Given the description of an element on the screen output the (x, y) to click on. 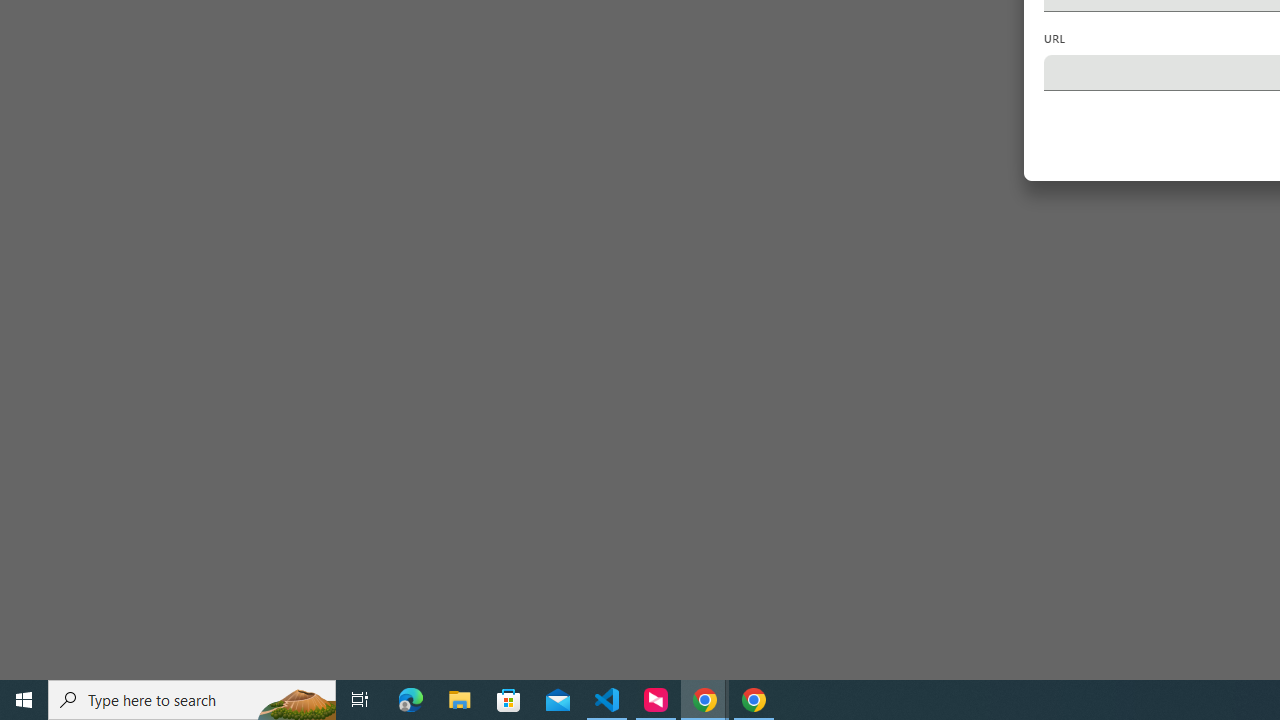
Start (24, 699)
Microsoft Edge (411, 699)
Search highlights icon opens search home window (295, 699)
Type here to search (191, 699)
Visual Studio Code - 1 running window (607, 699)
Task View (359, 699)
Google Chrome - 2 running windows (704, 699)
Google Chrome - 1 running window (754, 699)
Microsoft Store (509, 699)
File Explorer (460, 699)
